Given the description of an element on the screen output the (x, y) to click on. 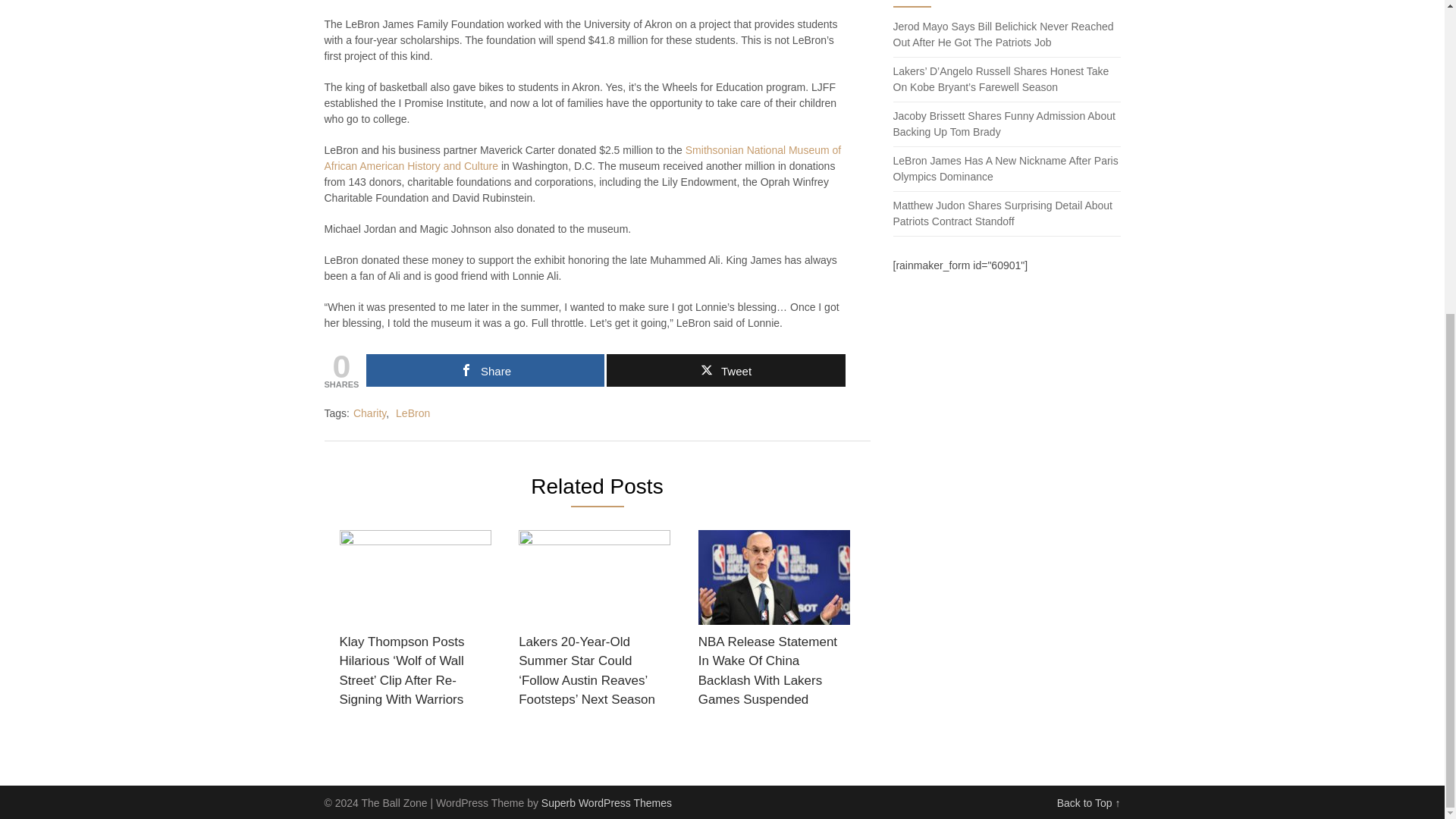
Superb WordPress Themes (606, 802)
LeBron (412, 413)
Charity (369, 413)
Tweet (725, 369)
Share (485, 369)
